Given the description of an element on the screen output the (x, y) to click on. 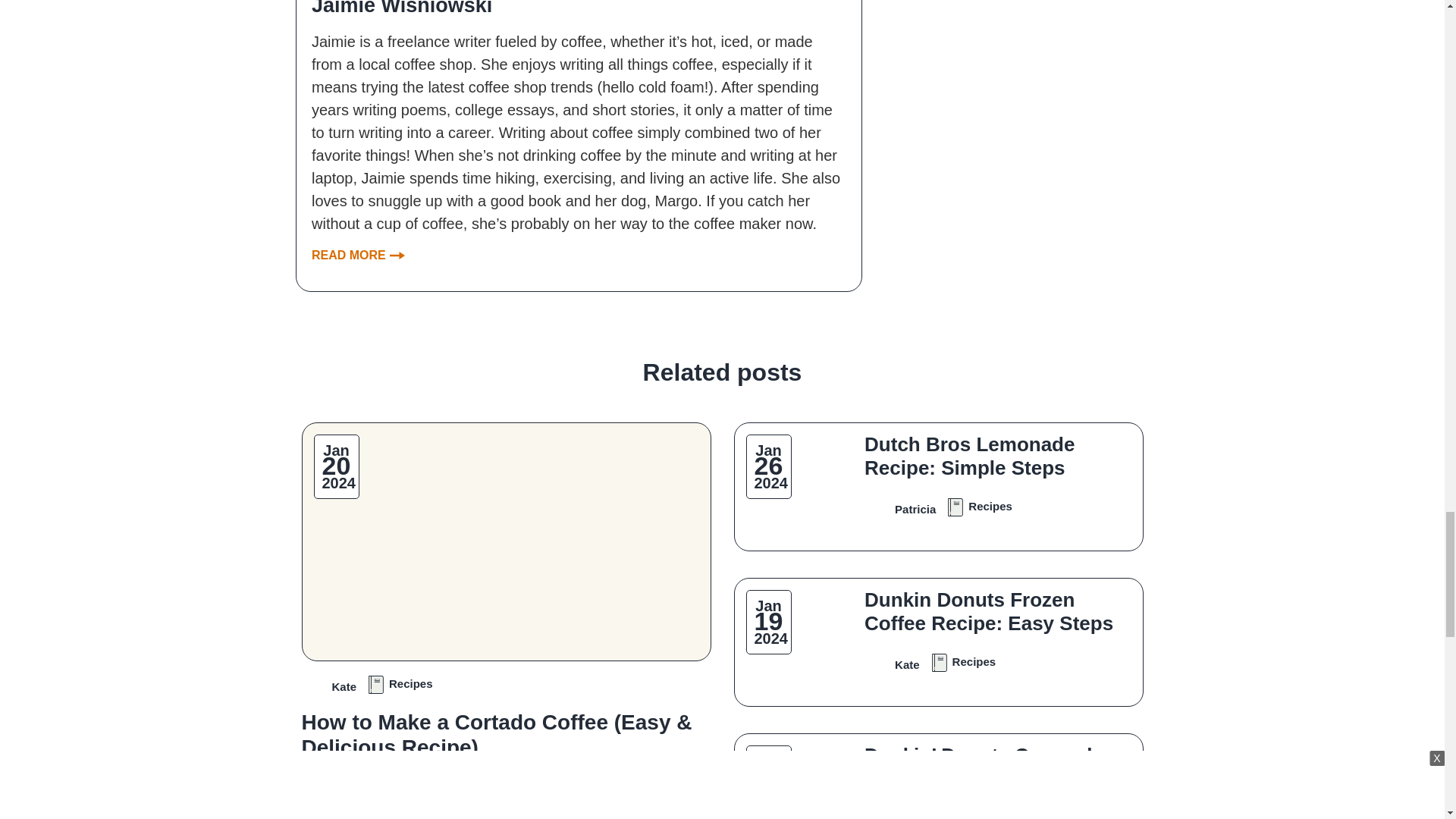
Recipes (399, 681)
READ MORE (357, 255)
Jaimie Wisniowski (578, 8)
Kate (328, 681)
